Given the description of an element on the screen output the (x, y) to click on. 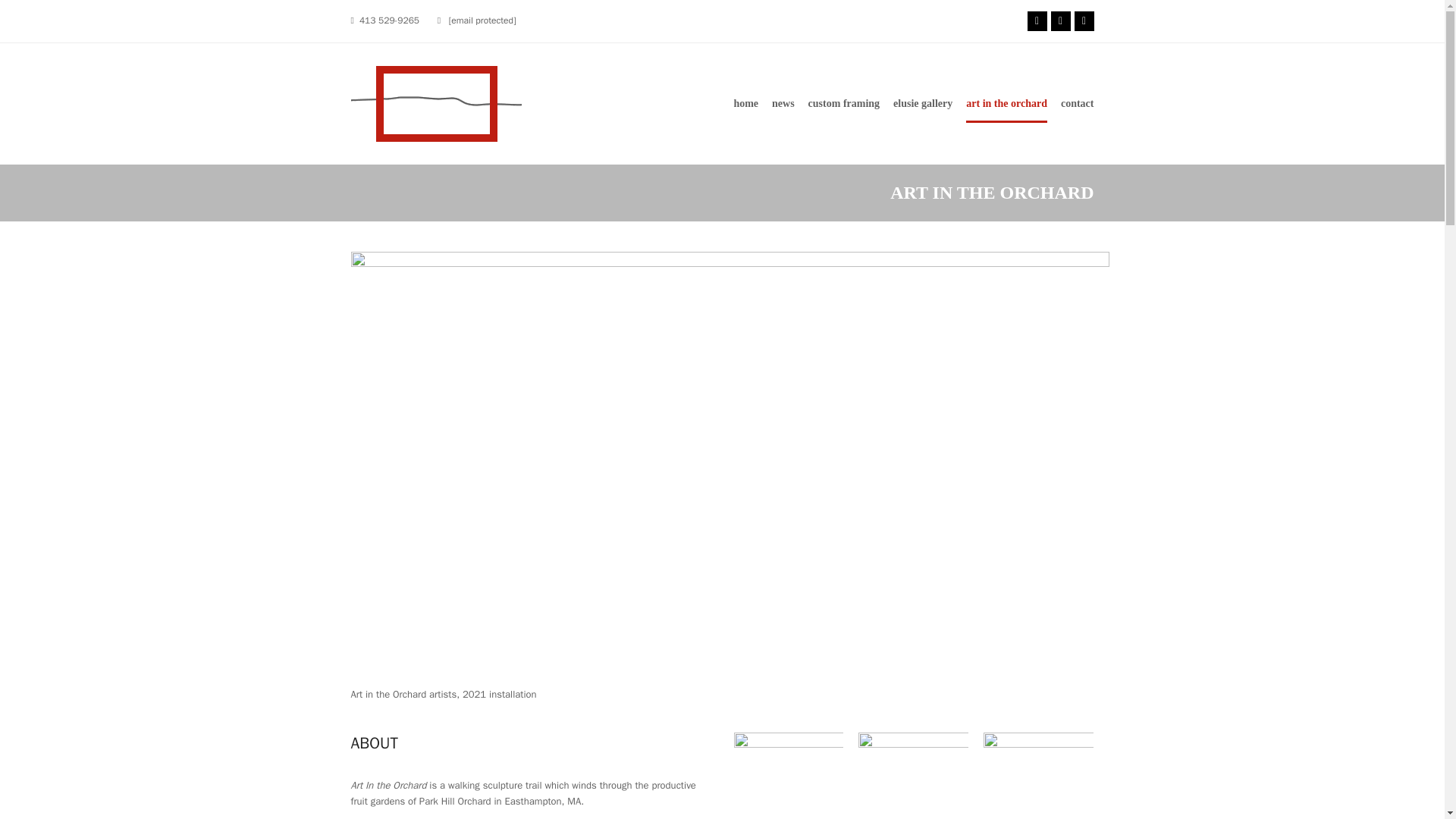
elusie gallery (922, 103)
custom framing (844, 103)
LinkedIn (1083, 21)
Instagram (1060, 21)
Facebook (1036, 21)
art in the orchard (1006, 103)
413 529-9265 (389, 20)
